Given the description of an element on the screen output the (x, y) to click on. 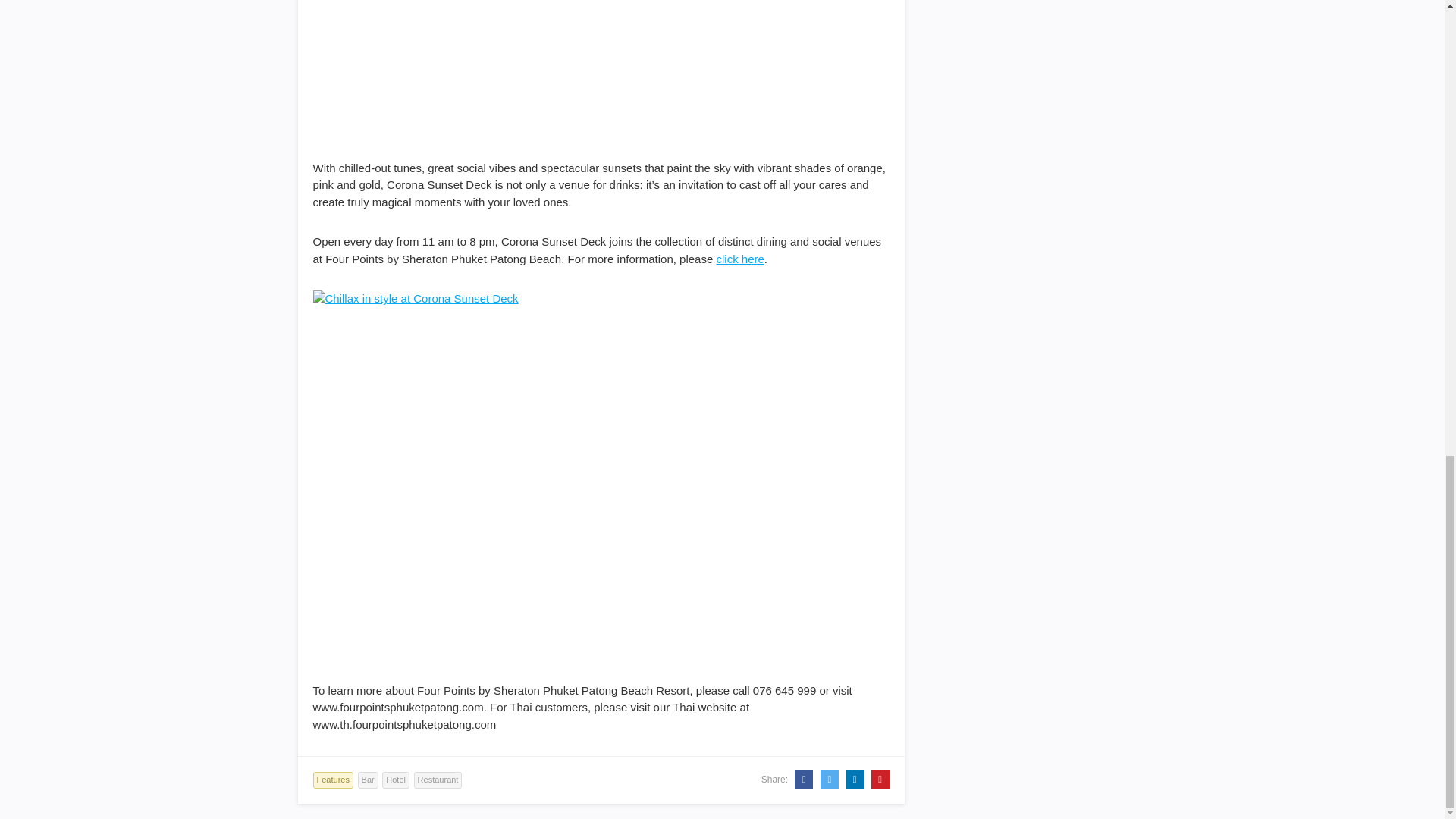
click here (739, 258)
